Given the description of an element on the screen output the (x, y) to click on. 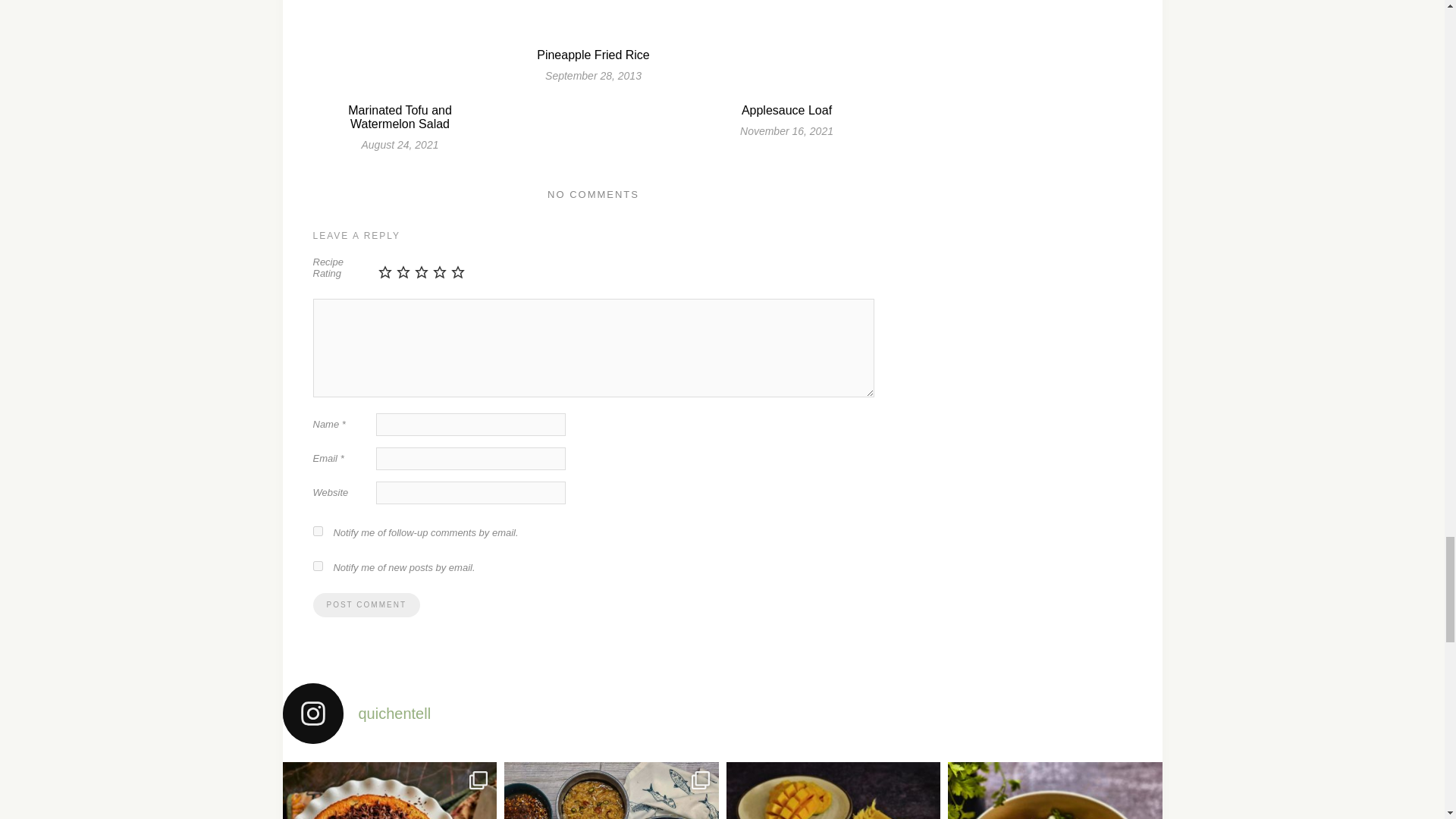
subscribe (317, 531)
subscribe (317, 565)
Post Comment (366, 604)
